Given the description of an element on the screen output the (x, y) to click on. 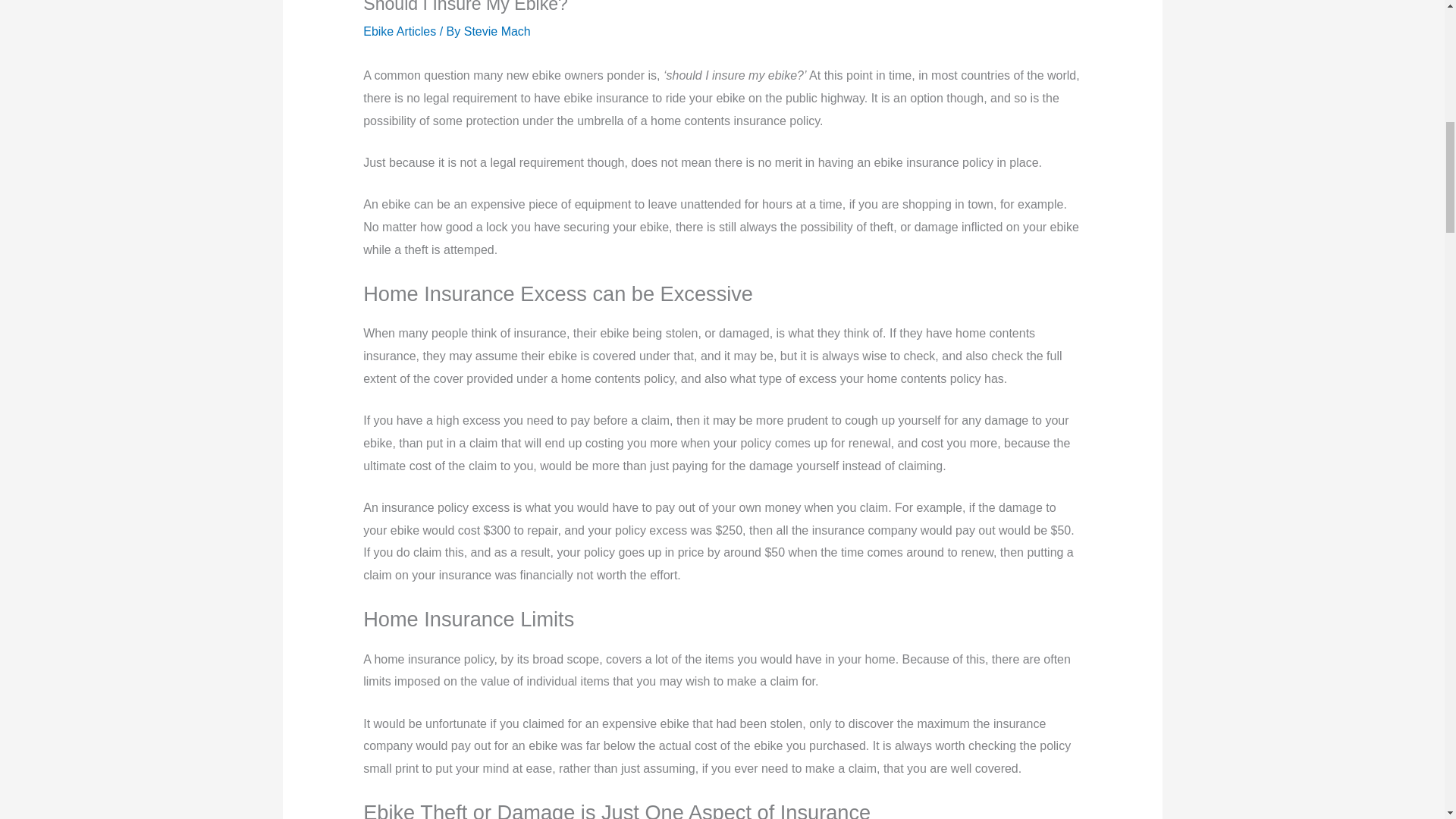
View all posts by Stevie Mach (497, 31)
Ebike Articles (398, 31)
Stevie Mach (497, 31)
